Given the description of an element on the screen output the (x, y) to click on. 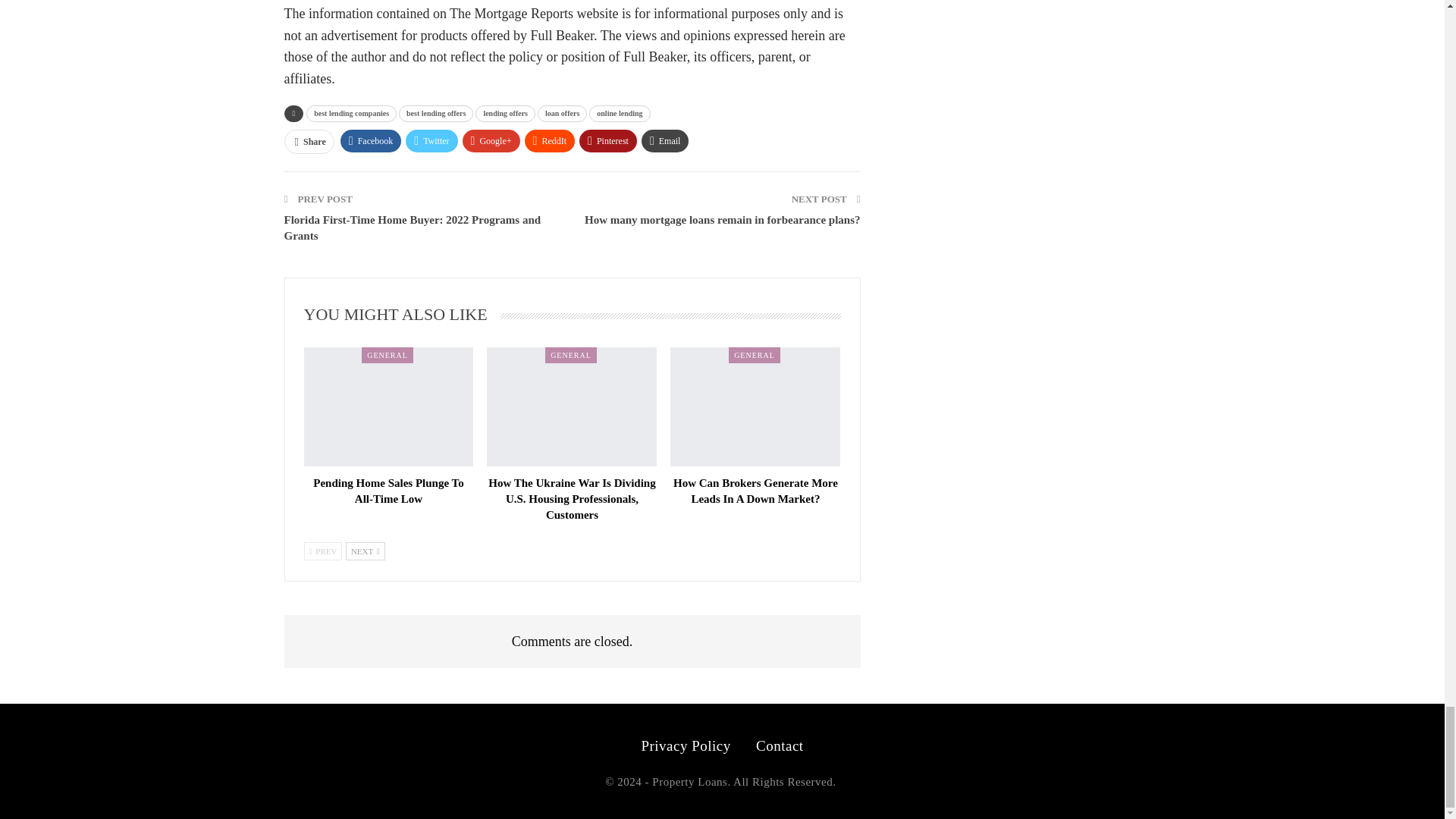
How can brokers generate more leads in a down market? (754, 406)
lending offers (505, 113)
Next (365, 551)
Florida First-Time Home Buyer: 2022 Programs and Grants (411, 227)
Pending home sales plunge to all-time low (387, 406)
loan offers (561, 113)
Email (665, 140)
How can brokers generate more leads in a down market? (755, 490)
Facebook (370, 140)
